Given the description of an element on the screen output the (x, y) to click on. 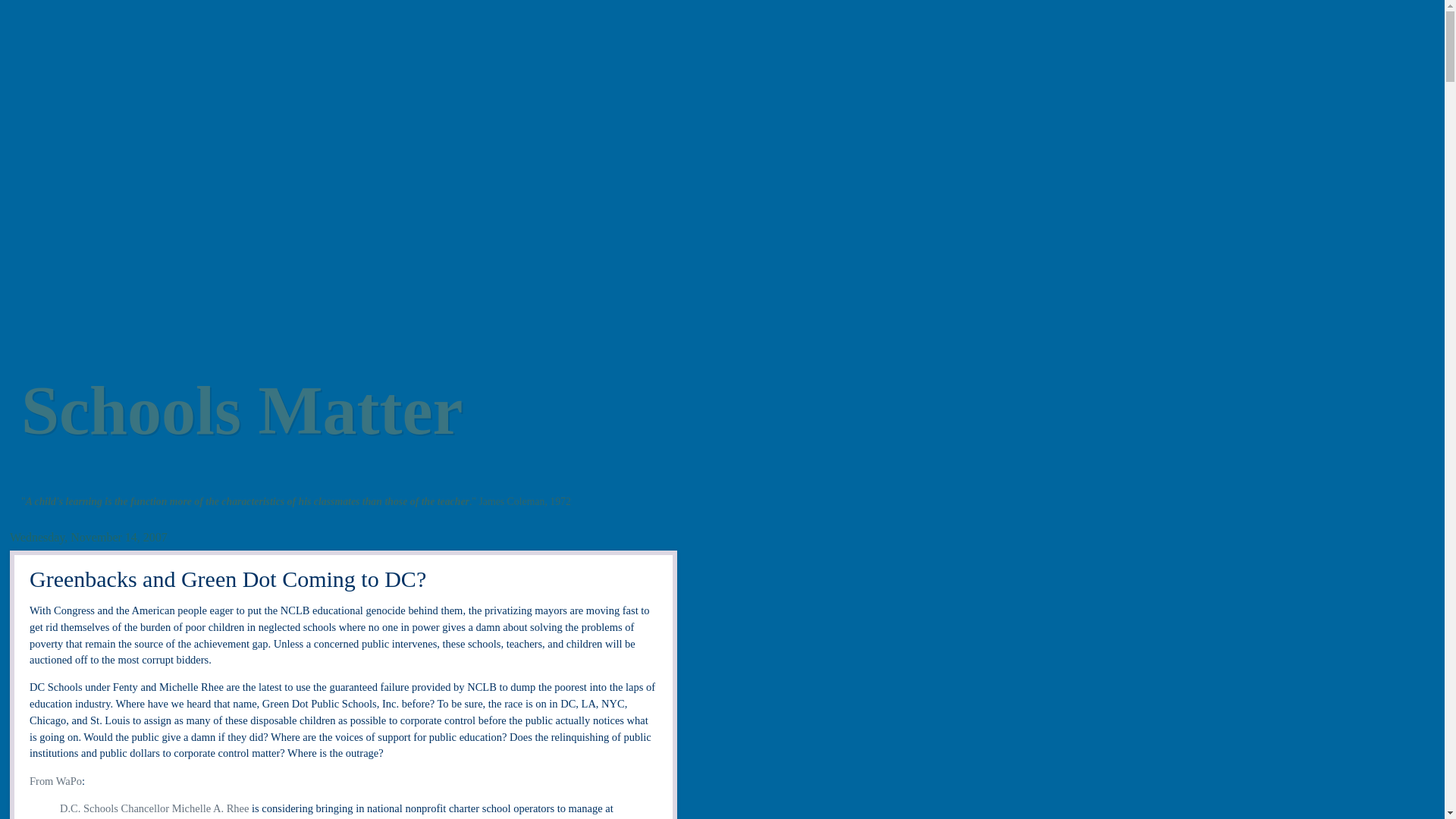
Schools Matter (242, 410)
From WaPo (55, 780)
D.C. Schools Chancellor Michelle A. Rhee (153, 808)
